Given the description of an element on the screen output the (x, y) to click on. 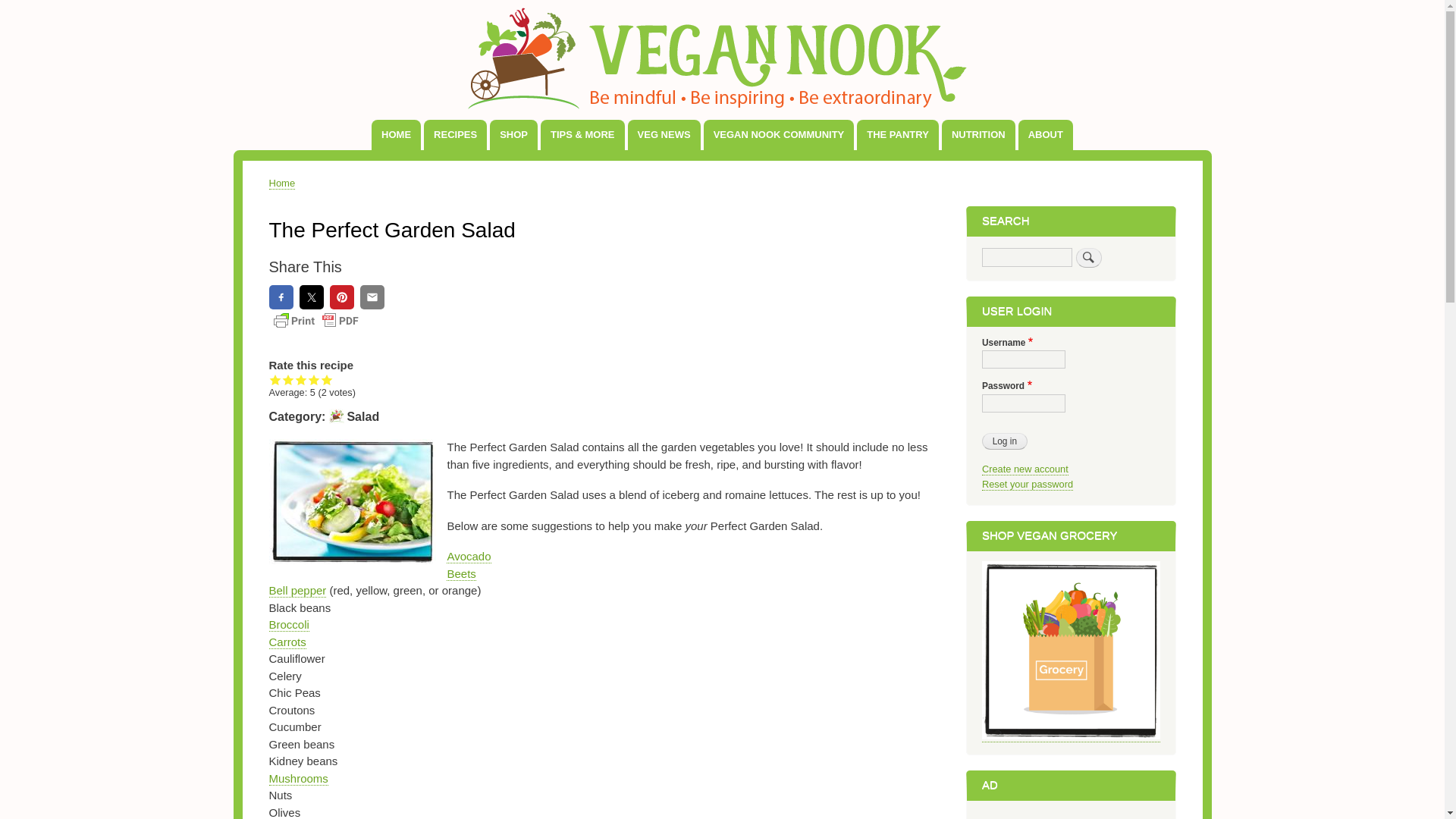
Avocado (468, 556)
Send password reset instructions via email. (1027, 484)
VEGAN NOOK COMMUNITY (778, 134)
SHOP (513, 134)
Log in (1004, 441)
Chat among friends (778, 134)
THE PANTRY (898, 134)
Recipes (454, 134)
ABOUT (1045, 134)
Search (1088, 257)
